Given the description of an element on the screen output the (x, y) to click on. 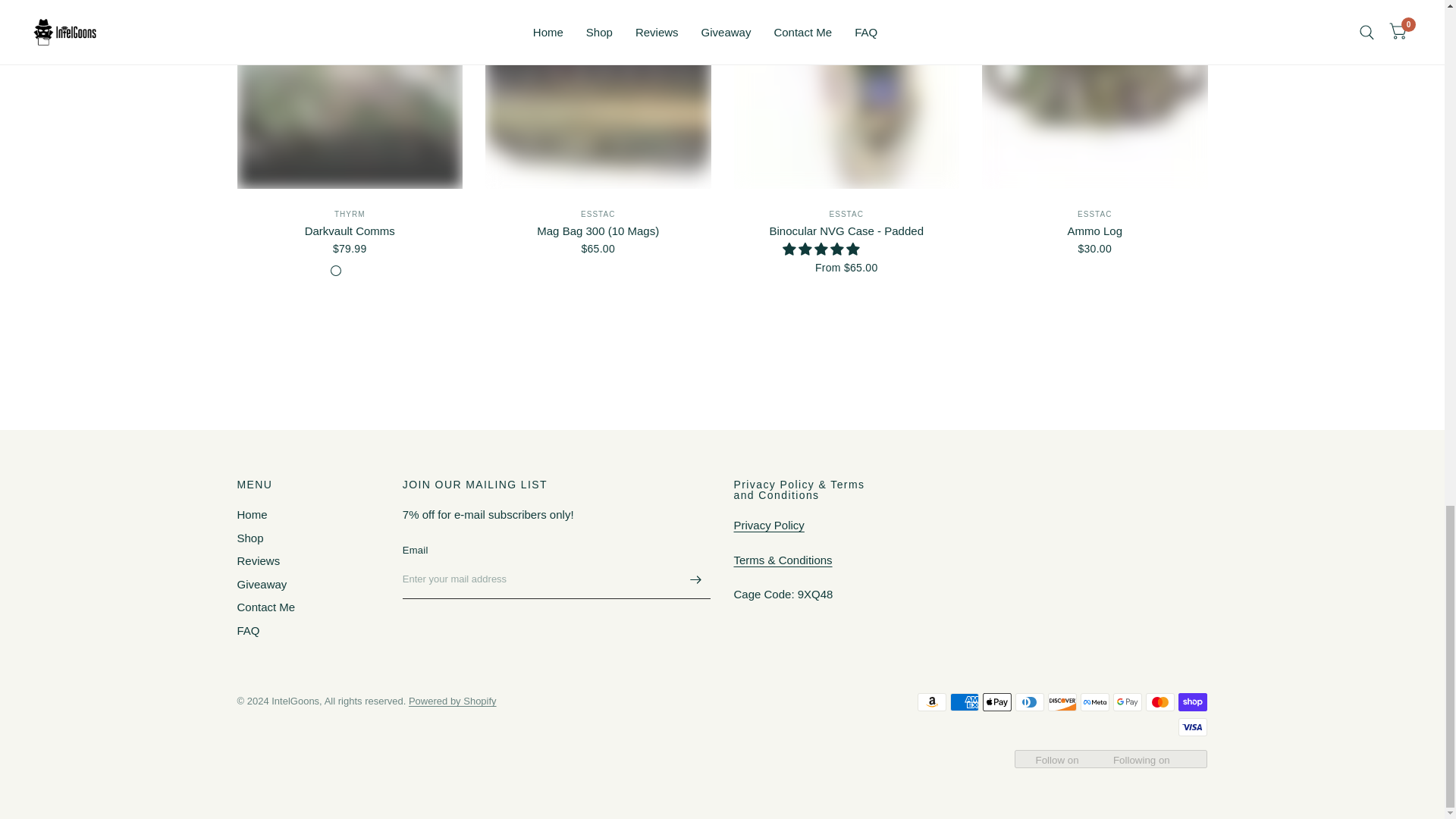
THYRM (349, 213)
THYRM (349, 213)
Darkvault Comms (349, 94)
ESSTAC (597, 213)
Darkvault Comms (349, 231)
